Given the description of an element on the screen output the (x, y) to click on. 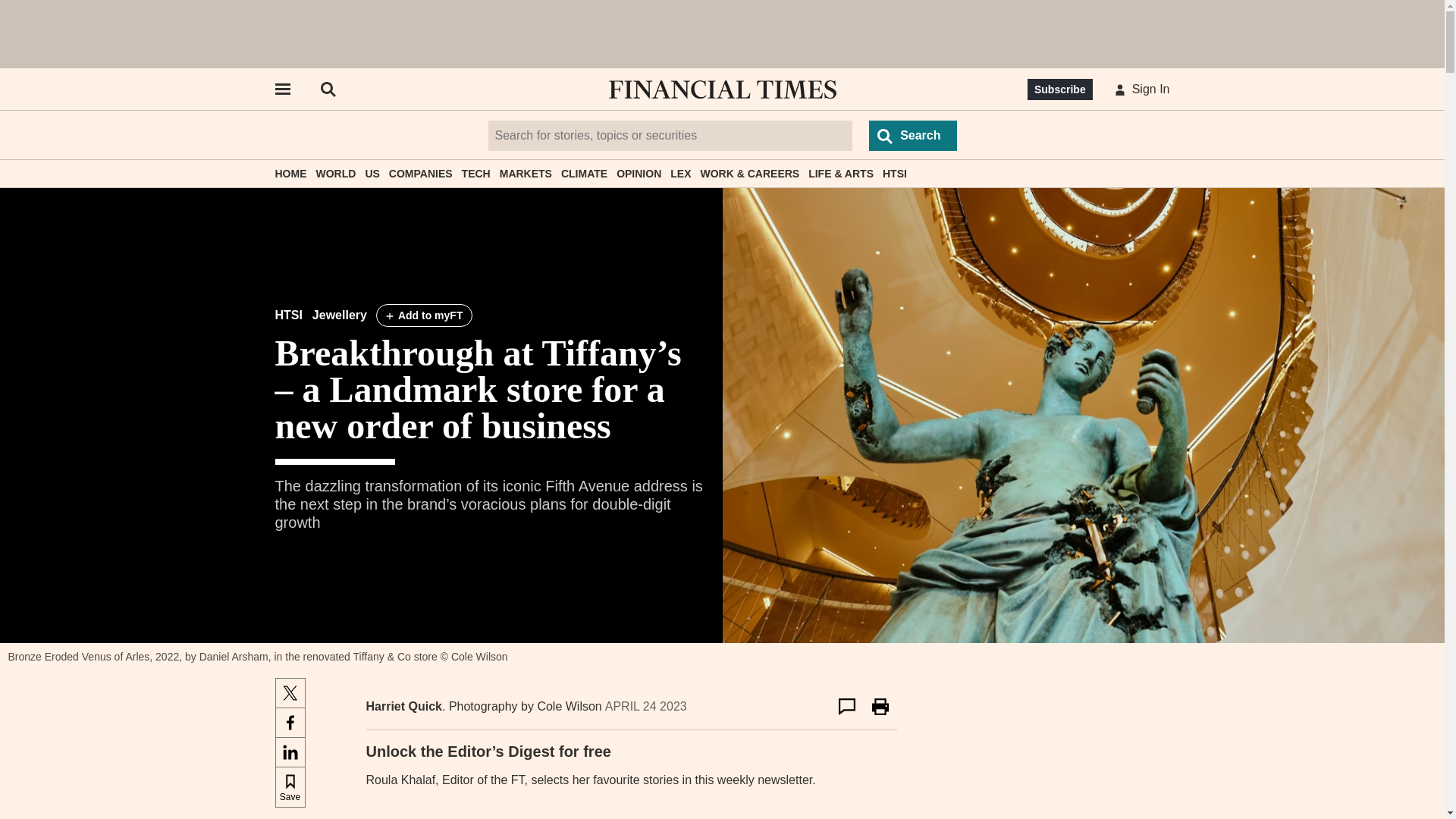
Sign In (1139, 89)
Search (912, 135)
Financial Times (721, 89)
Open side navigation menu (281, 89)
April 24 2023 6:00 pm (646, 706)
Jump to comments section (846, 706)
Open search bar (327, 89)
Add Jewellery to myFT (424, 314)
WORLD (335, 173)
Go to Financial Times homepage (721, 89)
Advertisement (722, 33)
Financial Times (721, 89)
Print this page (879, 706)
OPEN SEARCH BAR (327, 89)
HOME (290, 173)
